Given the description of an element on the screen output the (x, y) to click on. 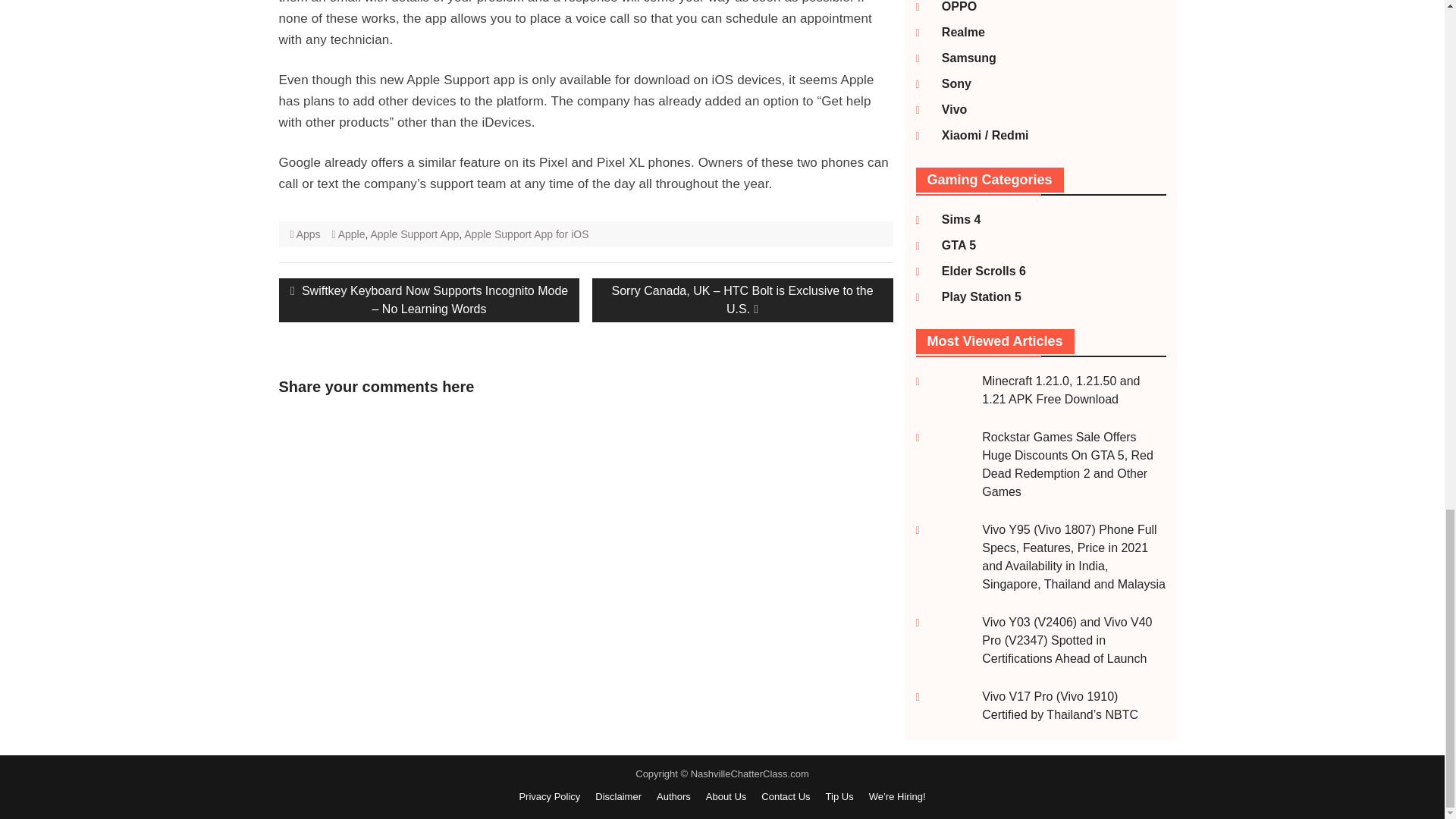
Apple Support App for iOS (526, 234)
Apple (351, 234)
Minecraft 1.21.0, 1.21.50 and 1.21 APK Free Download (1060, 389)
Apple Support App (413, 234)
Apps (308, 234)
